Given the description of an element on the screen output the (x, y) to click on. 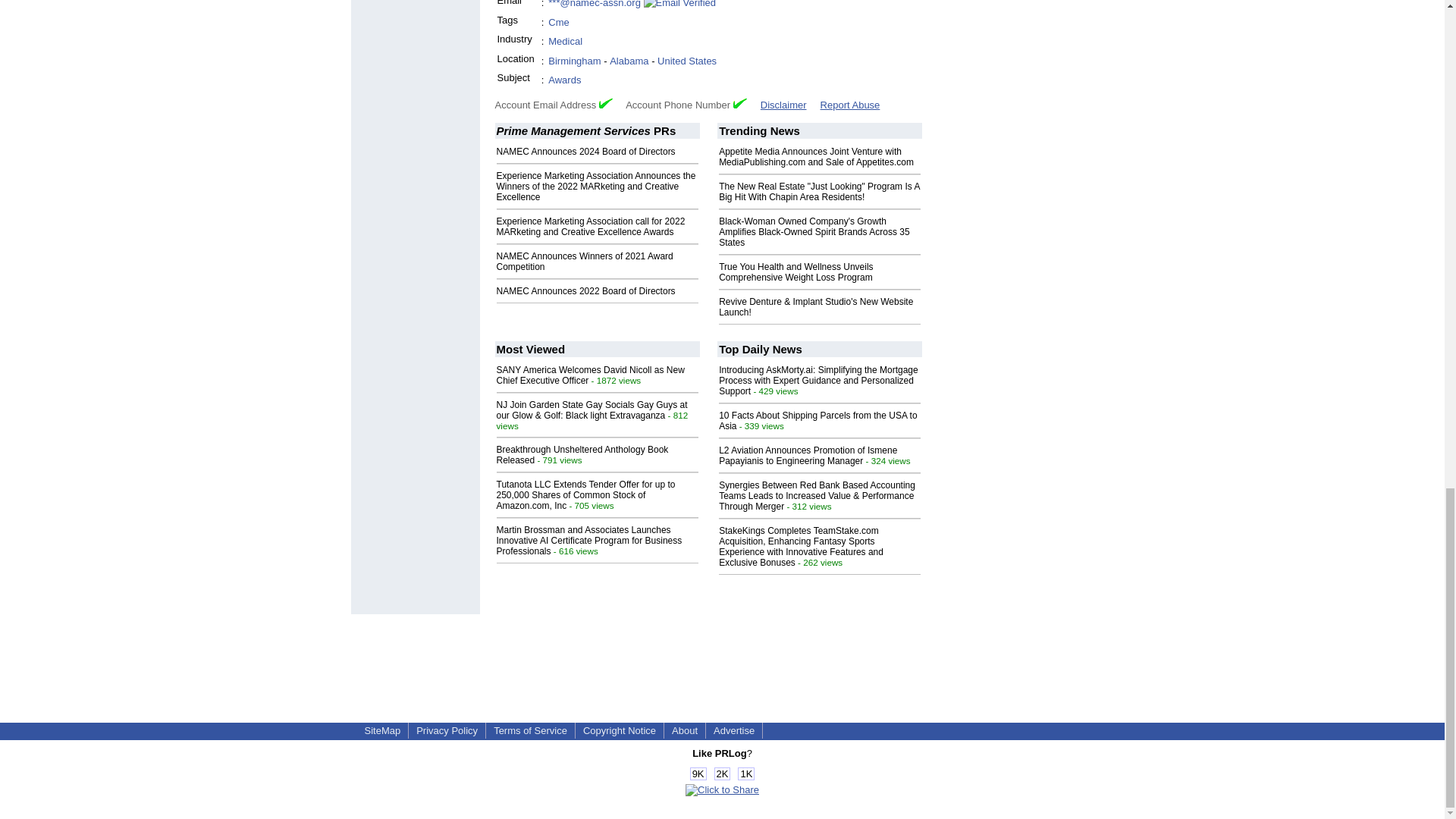
Verified (739, 103)
Email Verified (678, 5)
Verified (605, 103)
Share this page! (721, 789)
